Given the description of an element on the screen output the (x, y) to click on. 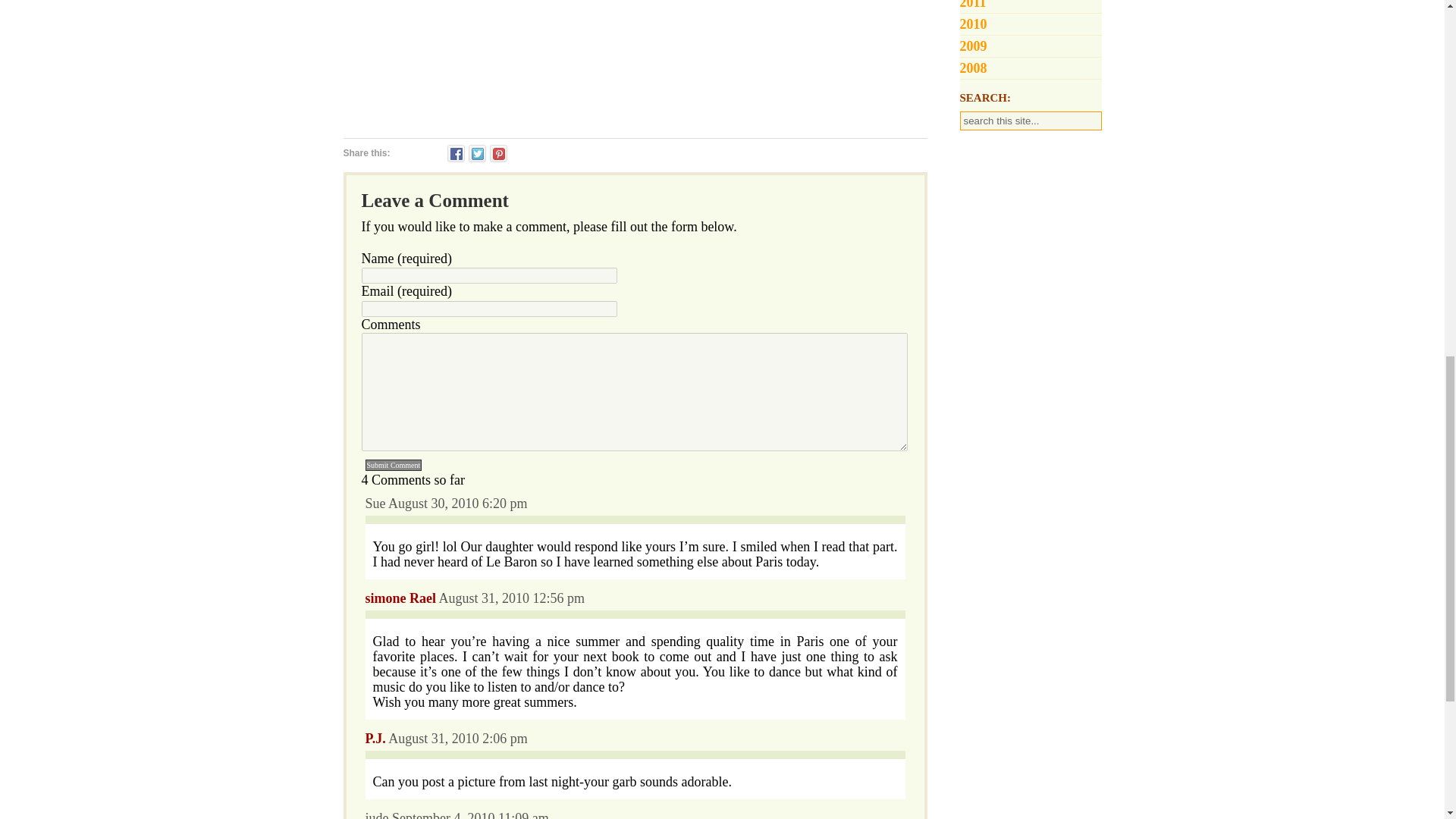
Click to share on Pinterest (497, 153)
Submit Comment (393, 464)
search this site... (1030, 120)
Click to share on Twitter (477, 153)
Share on Facebook (455, 153)
